Given the description of an element on the screen output the (x, y) to click on. 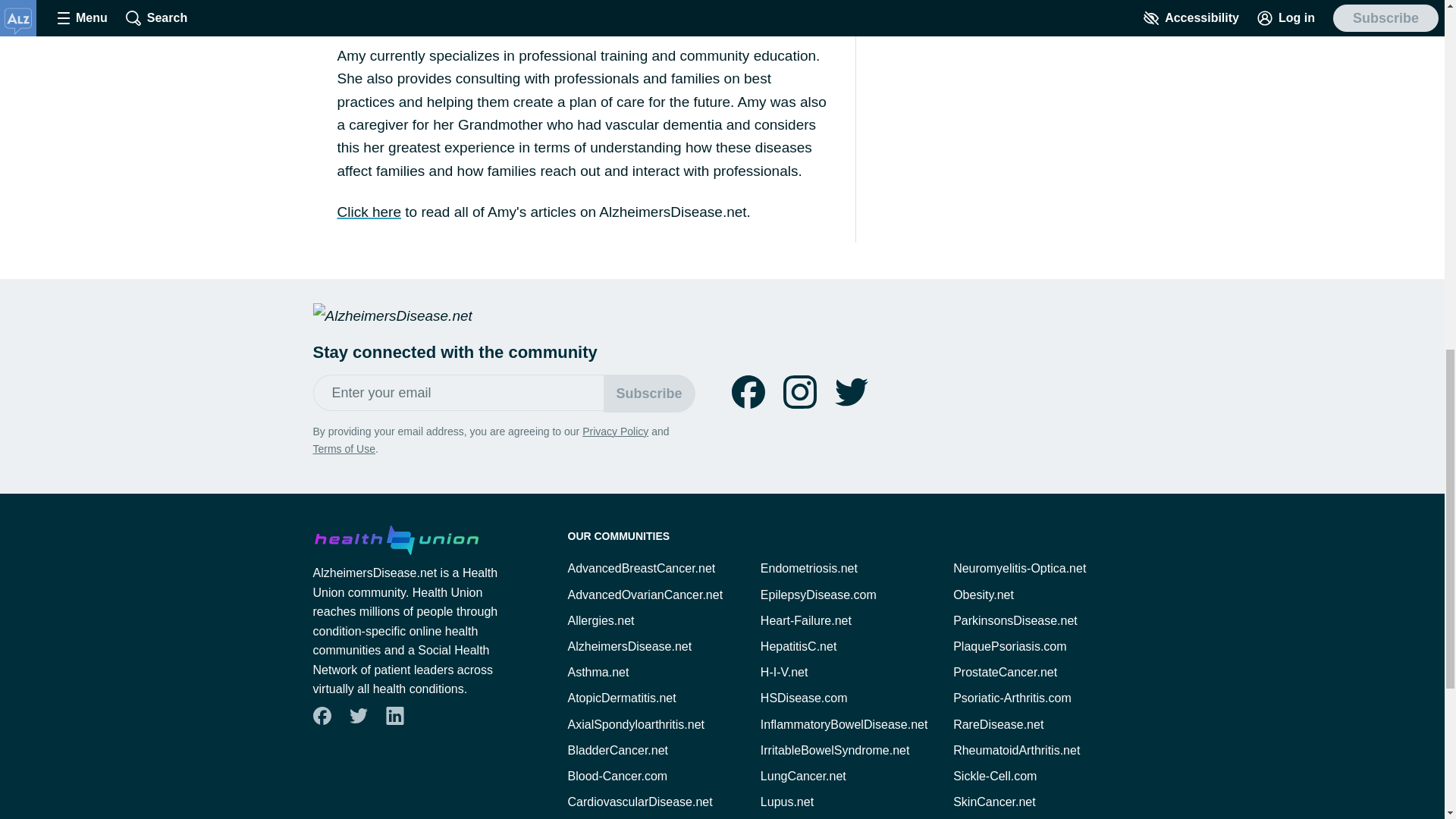
Follow us on twitter (357, 715)
Follow us on linkedin (393, 715)
Follow us on facebook (320, 715)
AdvancedOvarianCancer.net (644, 594)
Allergies.net (600, 620)
Terms of Use (455, 2)
AdvancedBreastCancer.net (640, 567)
Follow us on twitter (850, 391)
Follow us on twitter (850, 391)
Subscribe (649, 393)
Follow us on instagram (799, 391)
Follow us on facebook (747, 391)
Follow us on twitter (357, 715)
Click here (368, 211)
Follow us on facebook (321, 715)
